Given the description of an element on the screen output the (x, y) to click on. 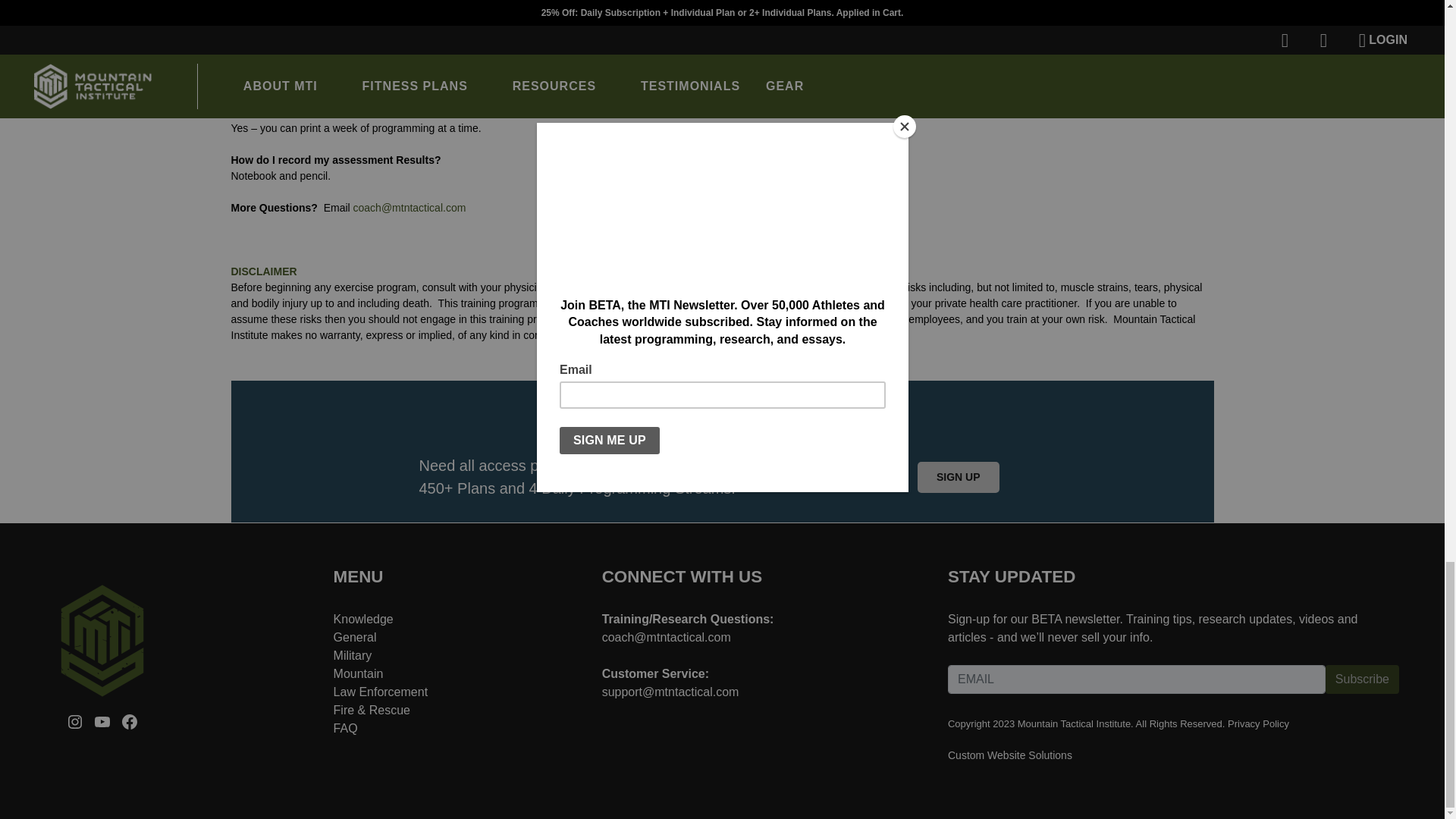
Subscribe (1361, 679)
